Given the description of an element on the screen output the (x, y) to click on. 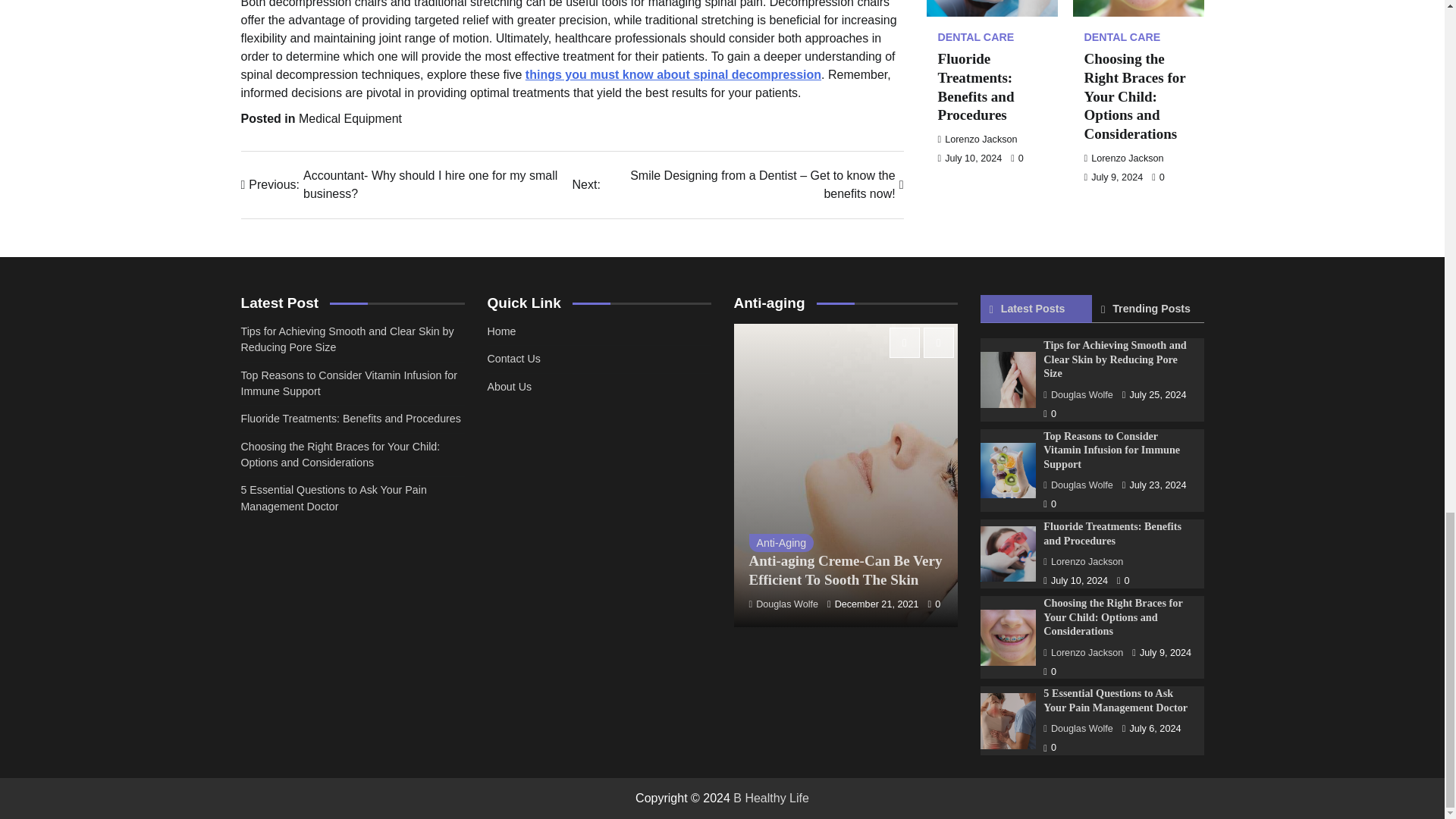
Medical Equipment (349, 118)
things you must know about spinal decompression (673, 74)
